Given the description of an element on the screen output the (x, y) to click on. 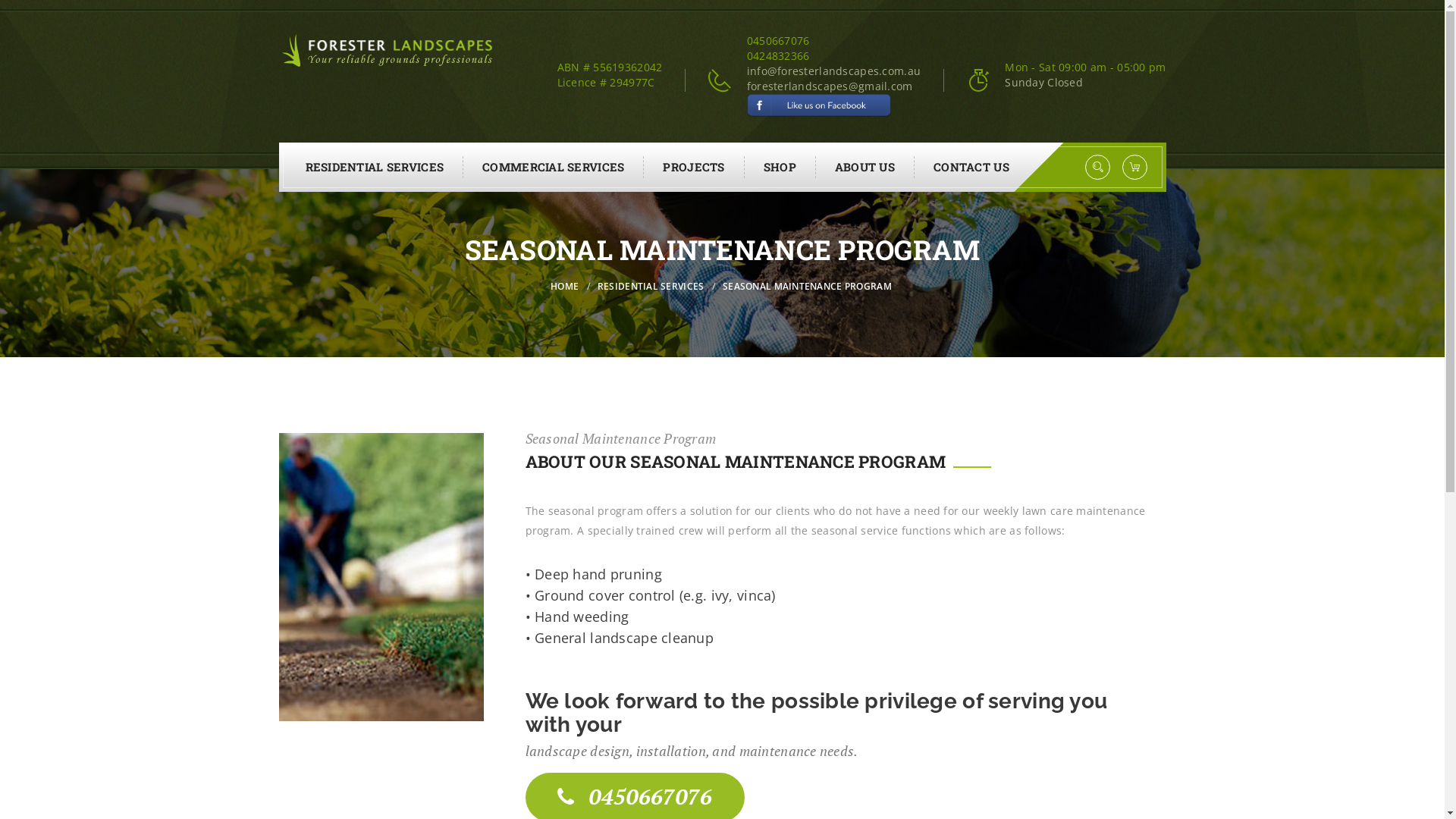
RESIDENTIAL SERVICES Element type: text (375, 167)
HOME Element type: text (565, 285)
CONTACT US Element type: text (971, 167)
RESIDENTIAL SERVICES Element type: text (651, 285)
PROJECTS Element type: text (693, 167)
SHOP Element type: text (779, 167)
ABOUT US Element type: text (864, 167)
COMMERCIAL SERVICES Element type: text (553, 167)
